Given the description of an element on the screen output the (x, y) to click on. 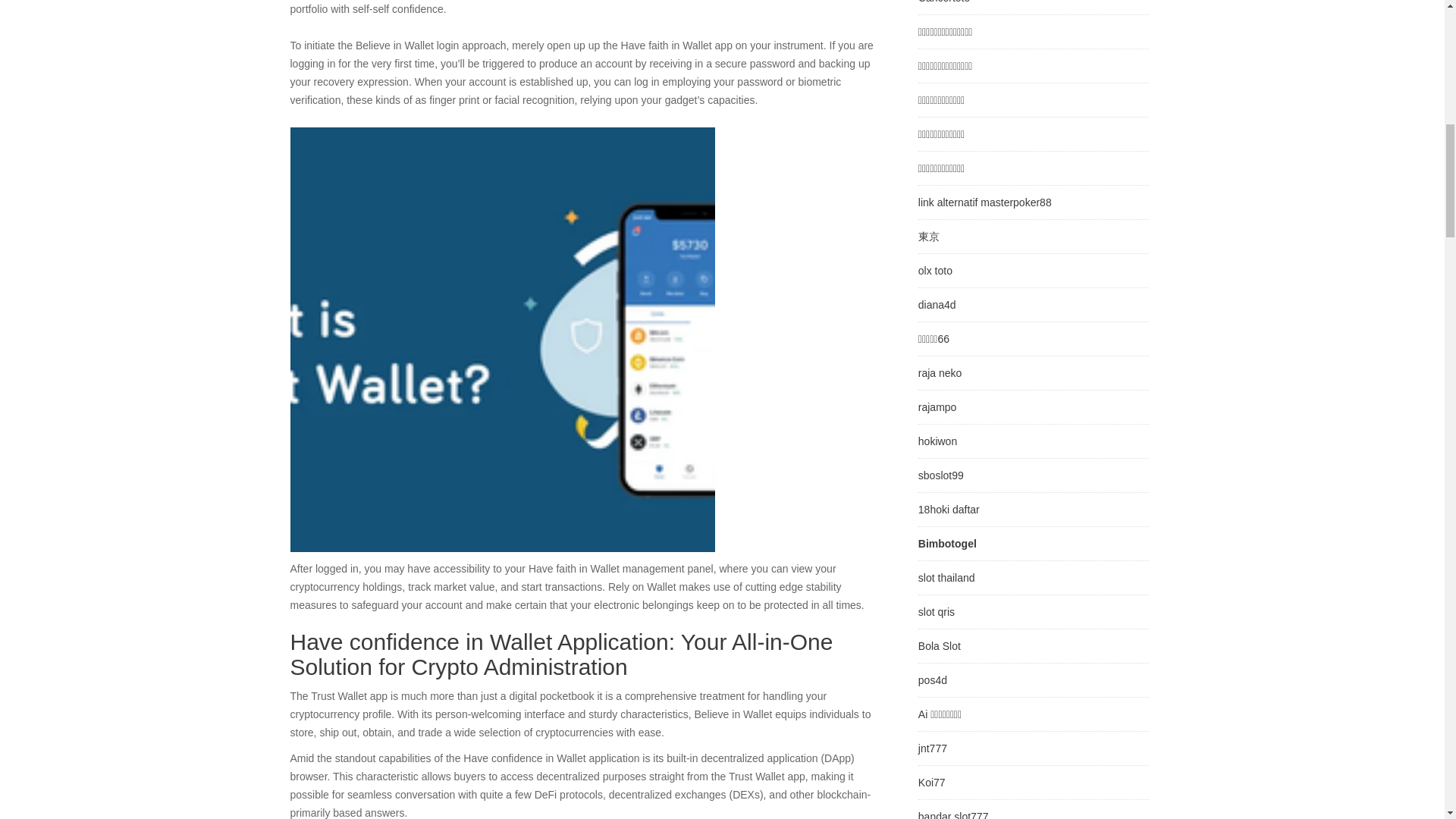
Bimbotogel (947, 543)
slot thailand (946, 577)
link alternatif masterpoker88 (984, 202)
rajampo (937, 407)
hokiwon (937, 440)
diana4d (937, 304)
olx toto (935, 270)
sboslot99 (940, 475)
18hoki daftar (948, 509)
slot qris (936, 612)
